Given the description of an element on the screen output the (x, y) to click on. 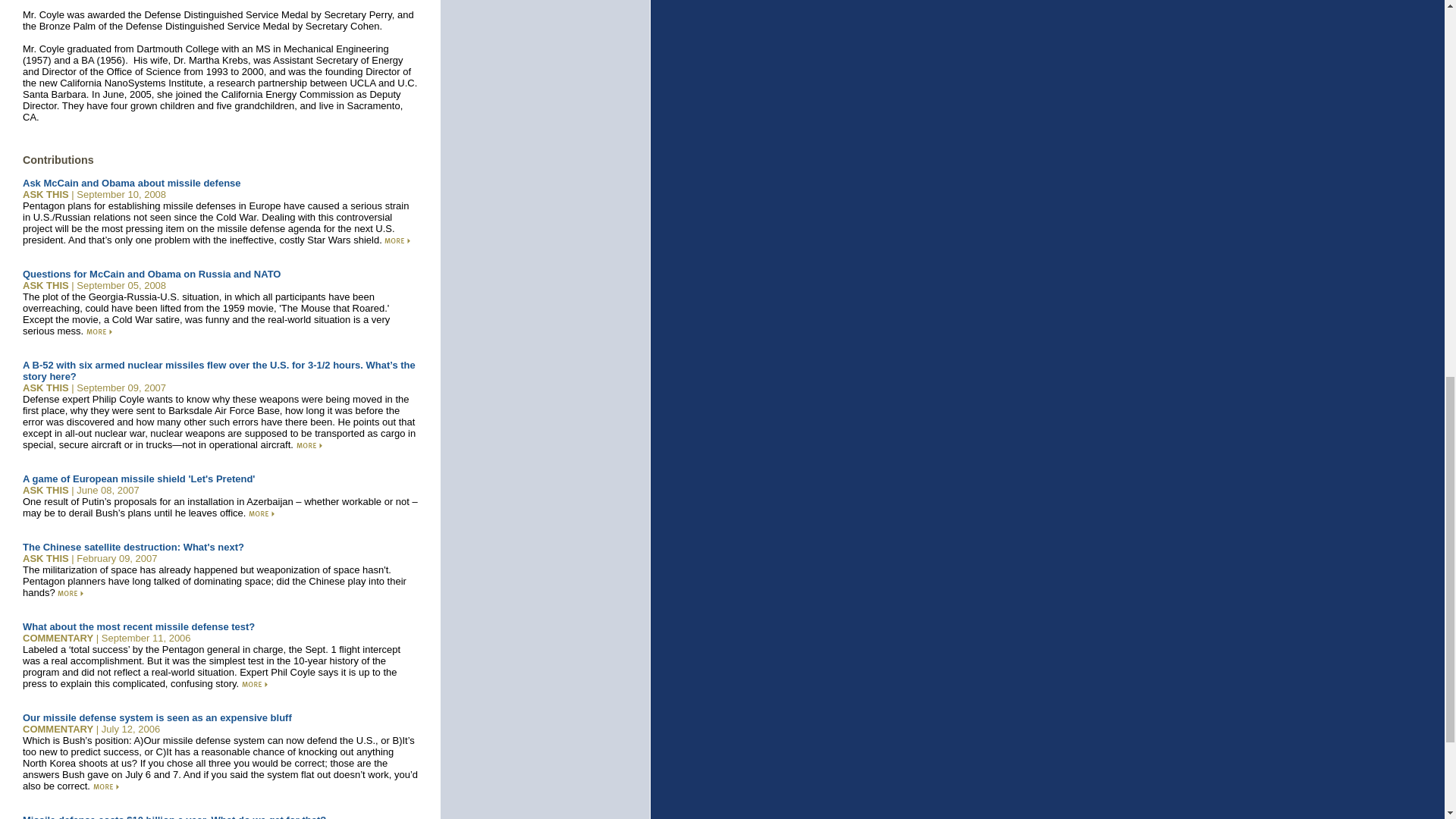
Questions for McCain and Obama on Russia and NATO (152, 274)
Our missile defense system is seen as an expensive bluff (157, 717)
A game of European missile shield 'Let's Pretend' (138, 478)
What about the most recent missile defense test? (138, 626)
Ask McCain and Obama about missile defense (132, 183)
The Chinese satellite destruction: What's next? (133, 546)
